Given the description of an element on the screen output the (x, y) to click on. 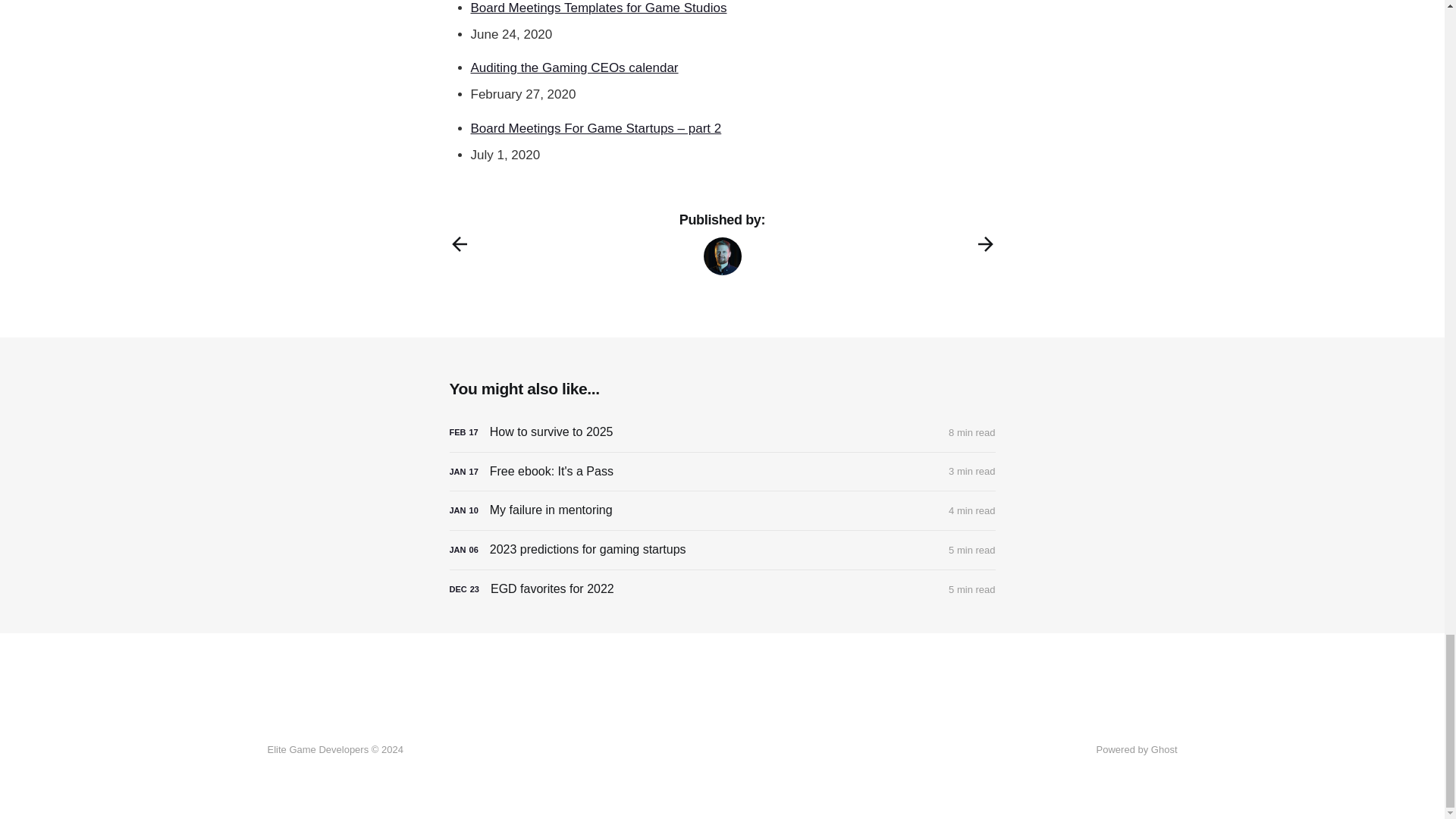
Board Meetings Templates for Game Studios (598, 7)
Powered by Ghost (1136, 749)
Auditing the Gaming CEOs calendar (574, 67)
